Given the description of an element on the screen output the (x, y) to click on. 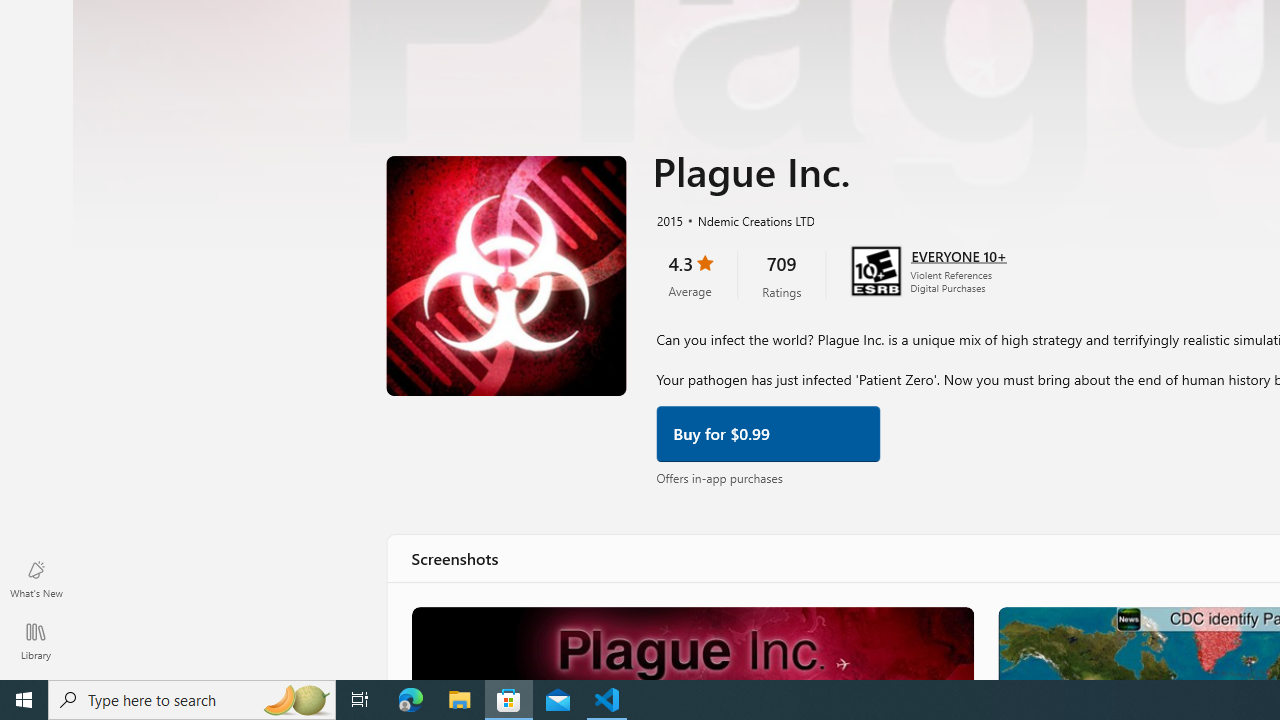
Ndemic Creations LTD (748, 218)
4.3 stars. Click to skip to ratings and reviews (689, 273)
Library (35, 640)
What's New (35, 578)
Screenshot 1 (691, 642)
Buy (767, 432)
Age rating: EVERYONE 10+. Click for more information. (958, 254)
2015 (667, 218)
